Given the description of an element on the screen output the (x, y) to click on. 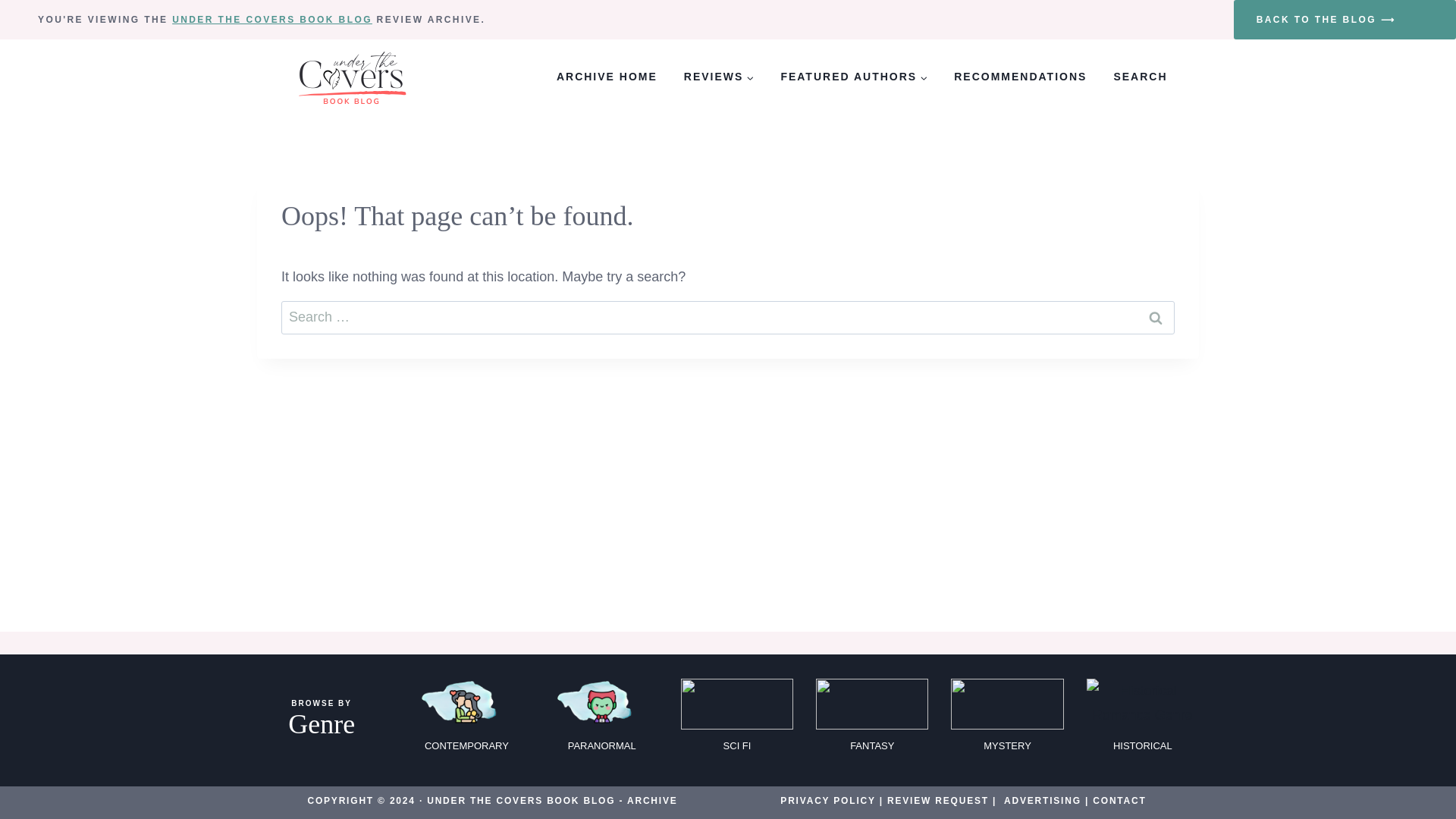
MYSTERY (1006, 720)
Search (1155, 317)
HISTORICAL (1142, 720)
Search (1155, 317)
PARANORMAL (602, 720)
Search (1155, 317)
FANTASY (871, 720)
REVIEW REQUEST (937, 800)
CONTACT (1119, 800)
RECOMMENDATIONS (1020, 77)
